Given the description of an element on the screen output the (x, y) to click on. 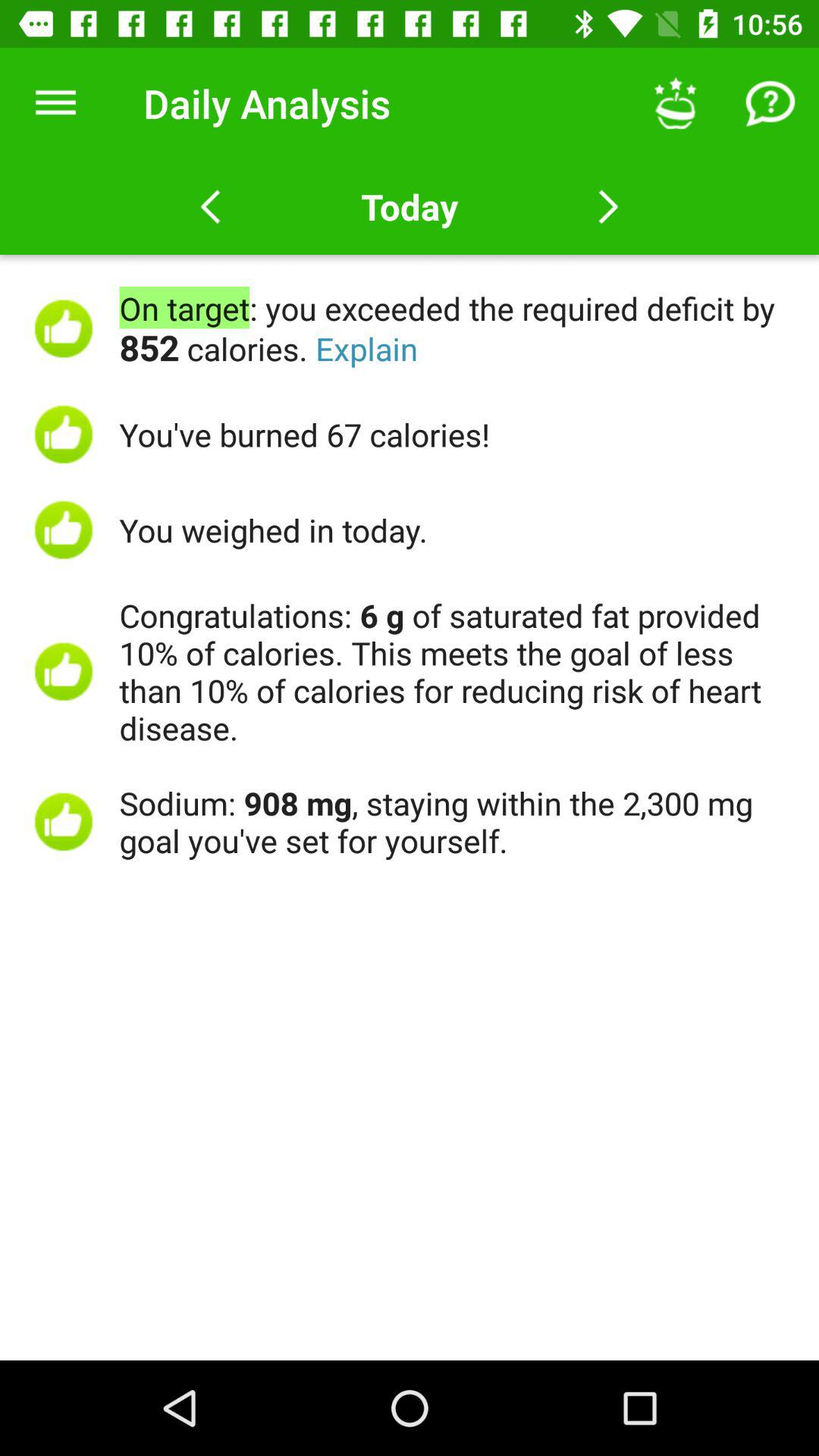
go to previous (210, 206)
